Given the description of an element on the screen output the (x, y) to click on. 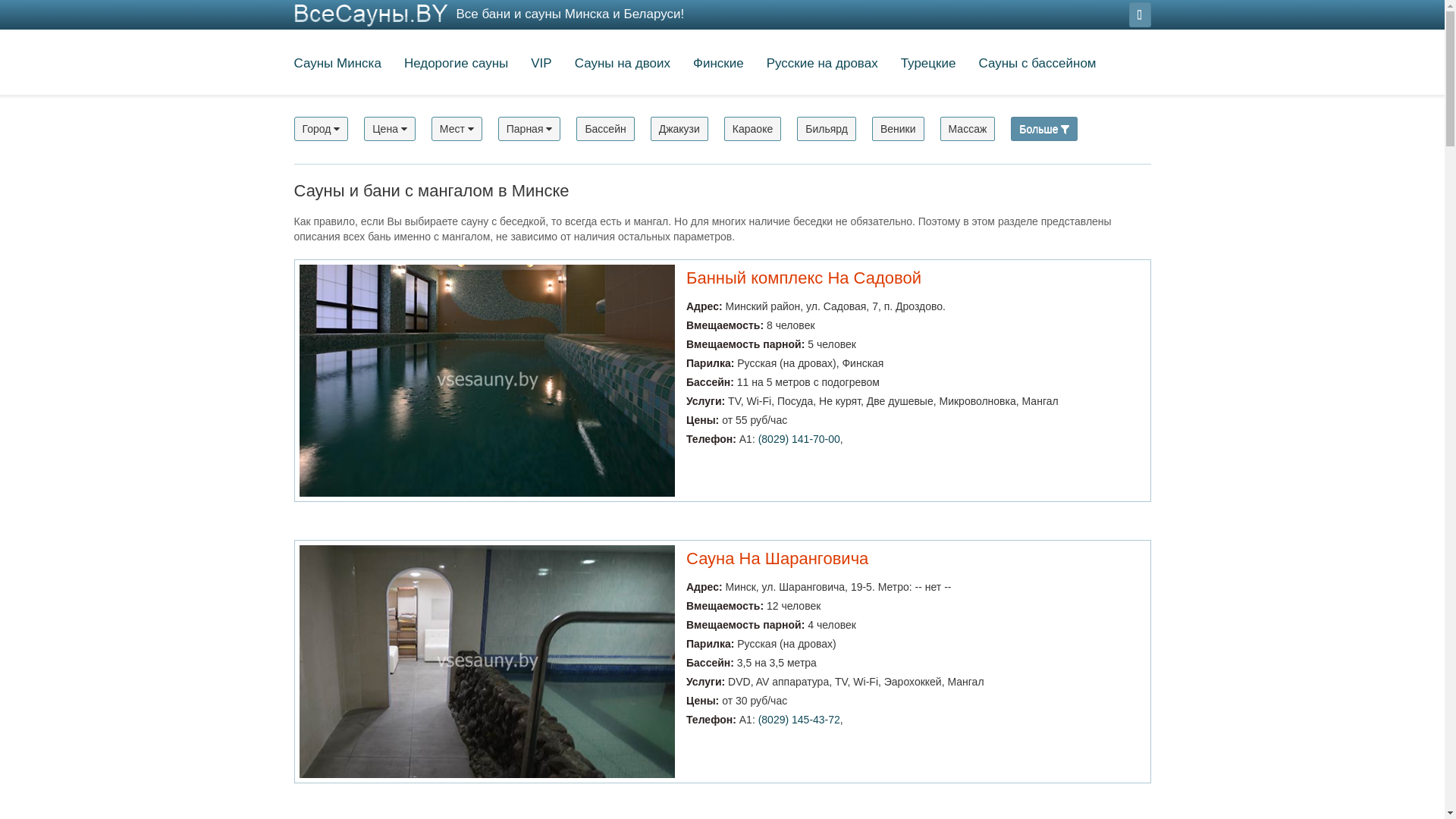
(8029) 141-70-00 Element type: text (799, 439)
VIP Element type: text (540, 65)
(8029) 145-43-72 Element type: text (799, 719)
